Given the description of an element on the screen output the (x, y) to click on. 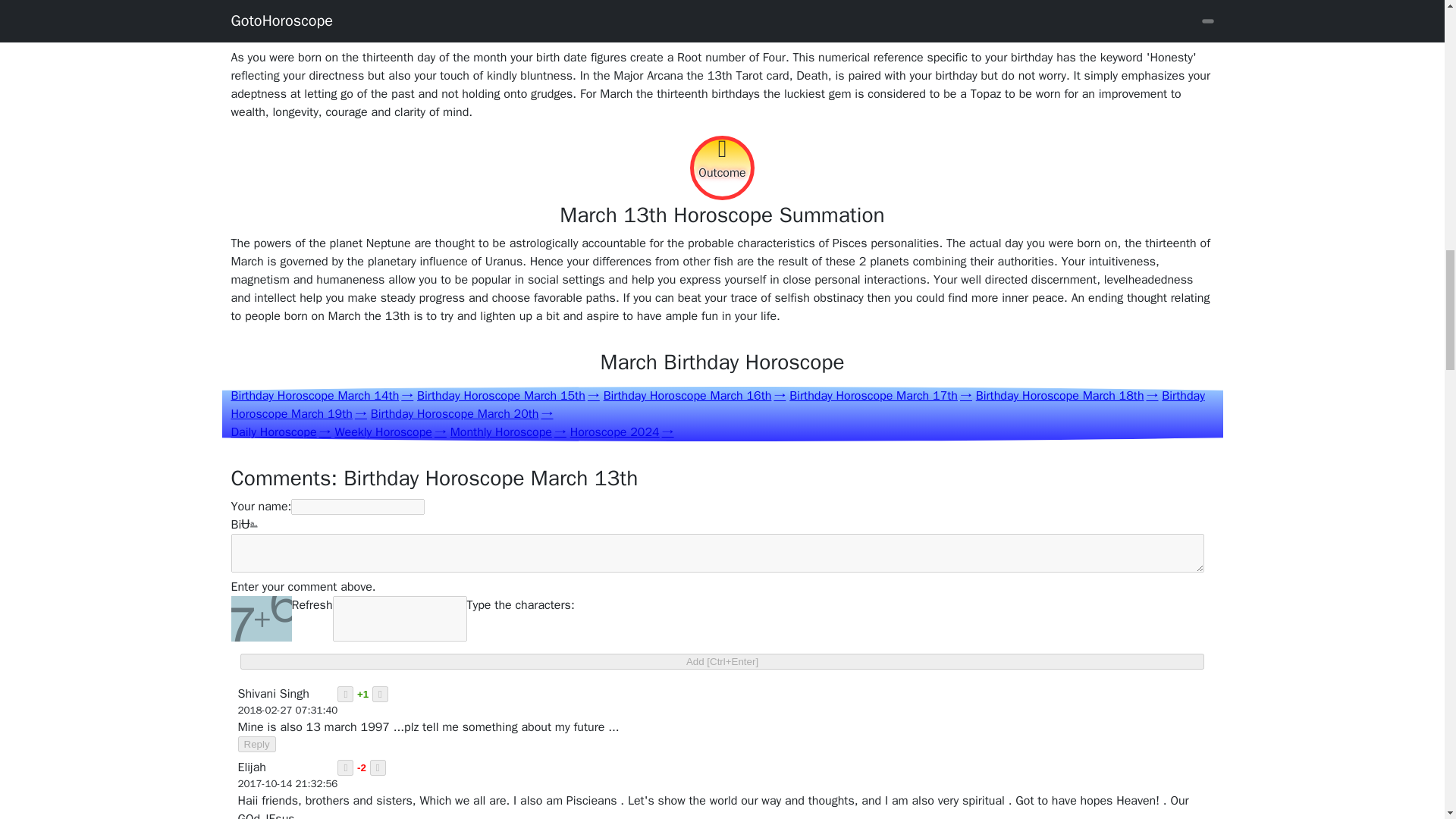
Monthly Horoscope (507, 432)
Birthday Horoscope March 15th (507, 395)
Daily Horoscope for Today and Tomorrow (280, 432)
Daily Horoscope (280, 432)
Horoscope 2024 (622, 432)
Birthday Horoscope March 20th (462, 413)
Weekly Horoscope (389, 432)
Monthly Horoscope (507, 432)
Birthday Horoscope March 14th (321, 395)
Birthday Horoscope March 18th (1066, 395)
